Given the description of an element on the screen output the (x, y) to click on. 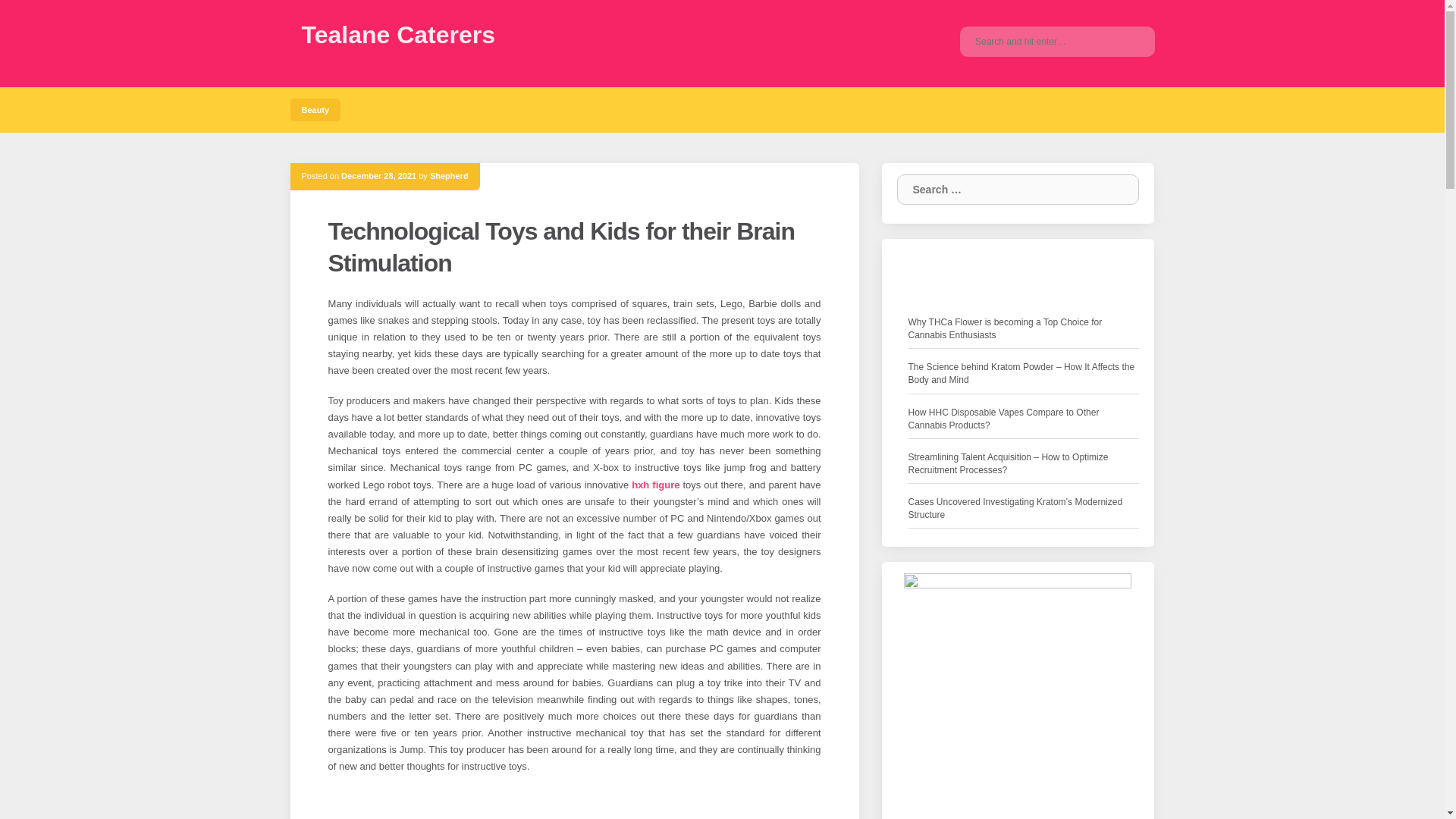
Search (1131, 41)
Search (1115, 189)
Shepherd (448, 175)
hxh figure (655, 484)
Beauty (314, 109)
Search (1131, 41)
Search (1115, 189)
December 28, 2021 (378, 175)
Search (1115, 189)
